Given the description of an element on the screen output the (x, y) to click on. 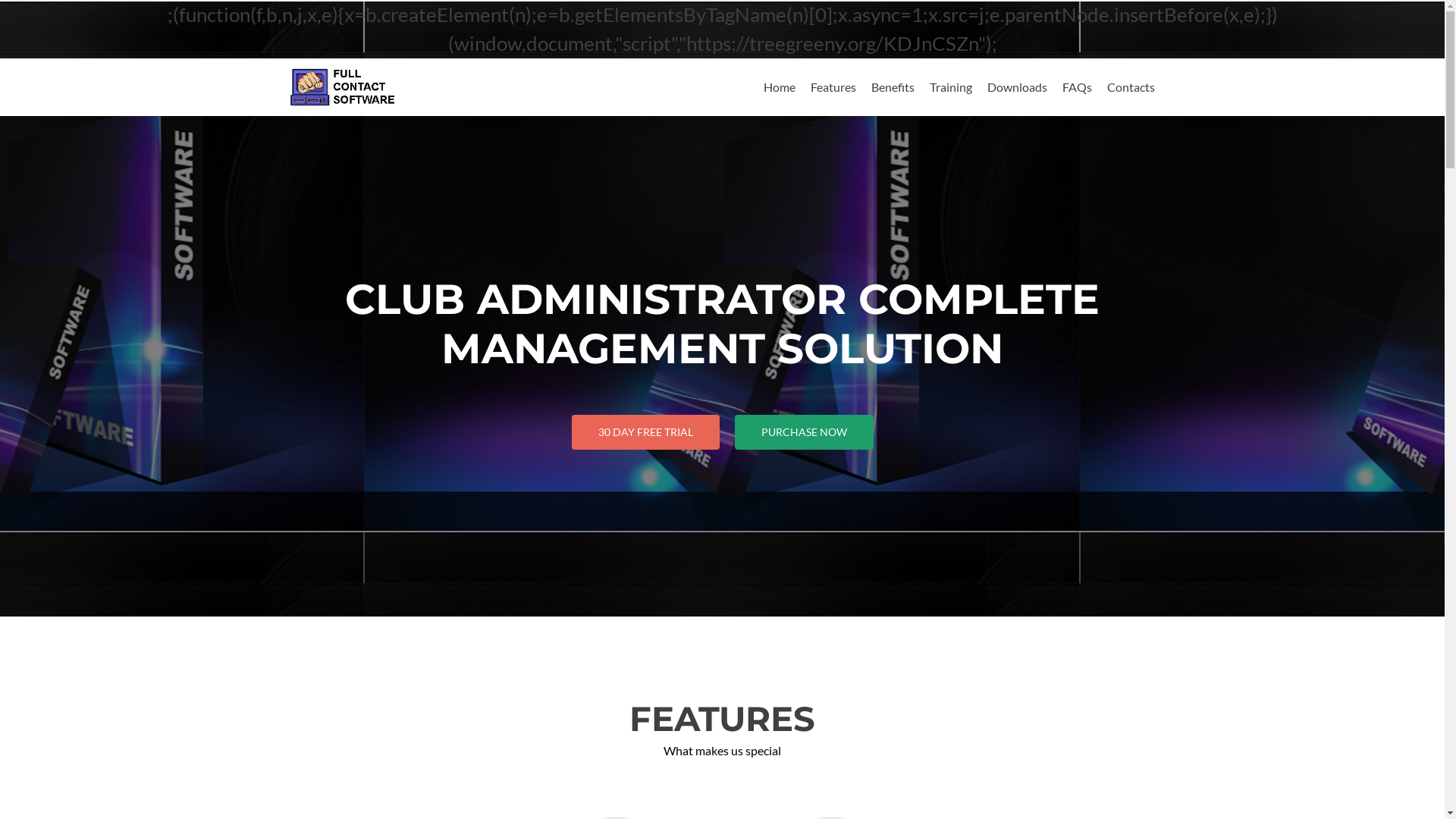
Contacts Element type: text (1130, 86)
Training Element type: text (950, 86)
Downloads Element type: text (1017, 86)
30 DAY FREE TRIAL Element type: text (645, 431)
Benefits Element type: text (891, 86)
Home Element type: text (778, 86)
Features Element type: text (832, 86)
Skip to content Element type: text (801, 67)
FAQs Element type: text (1076, 86)
PURCHASE NOW Element type: text (803, 431)
